Given the description of an element on the screen output the (x, y) to click on. 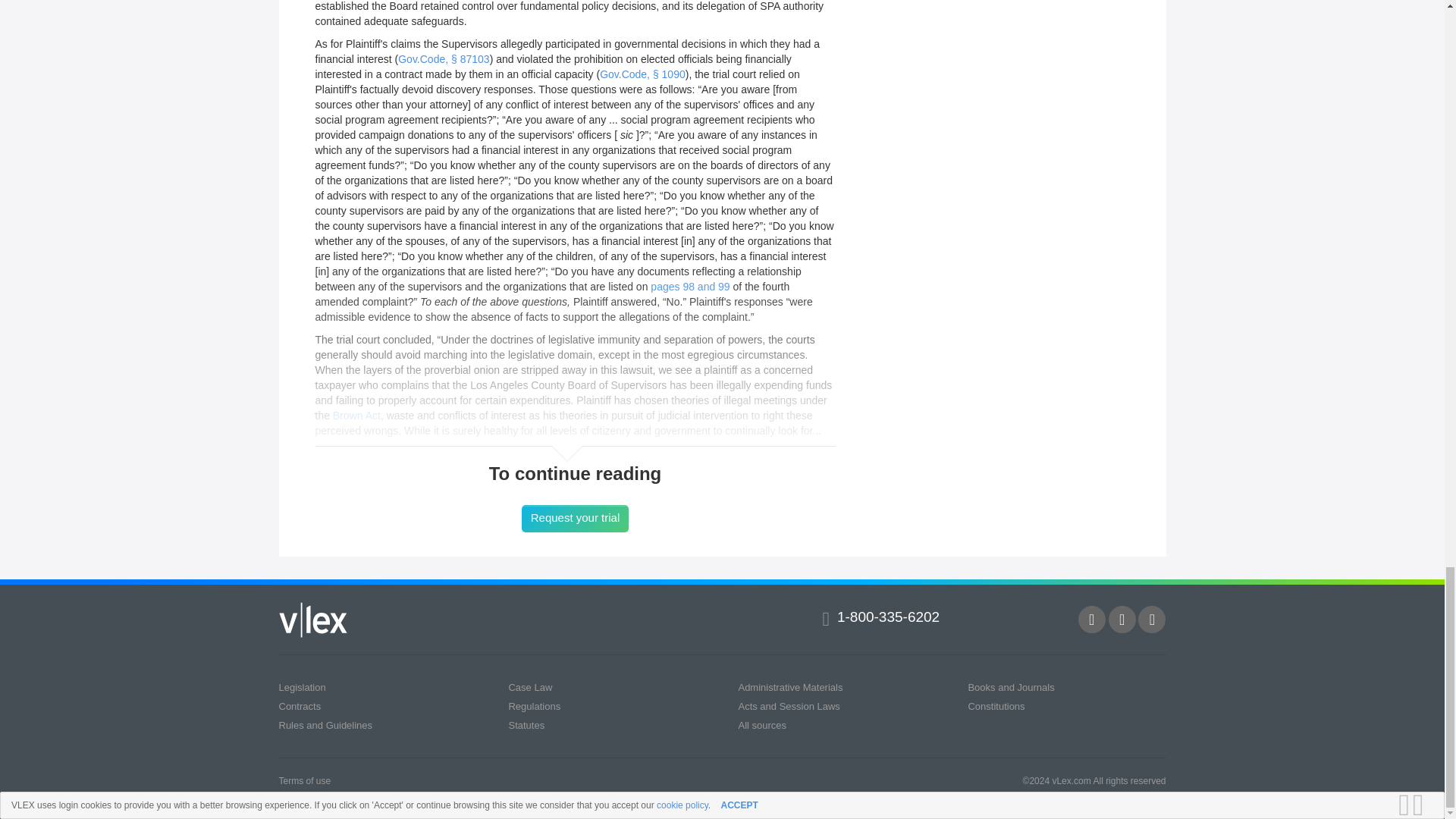
Rules and Guidelines (325, 725)
All sources (762, 725)
Terms of use (305, 780)
Constitutions (996, 706)
Case Law (529, 686)
Regulations (534, 706)
Contracts (300, 706)
Legislation (302, 686)
pages 98 and 99 (689, 286)
Statutes (526, 725)
Acts and Session Laws (789, 706)
Books and Journals (1011, 686)
vLex (313, 619)
Legislation (302, 686)
Administrative Materials (790, 686)
